Given the description of an element on the screen output the (x, y) to click on. 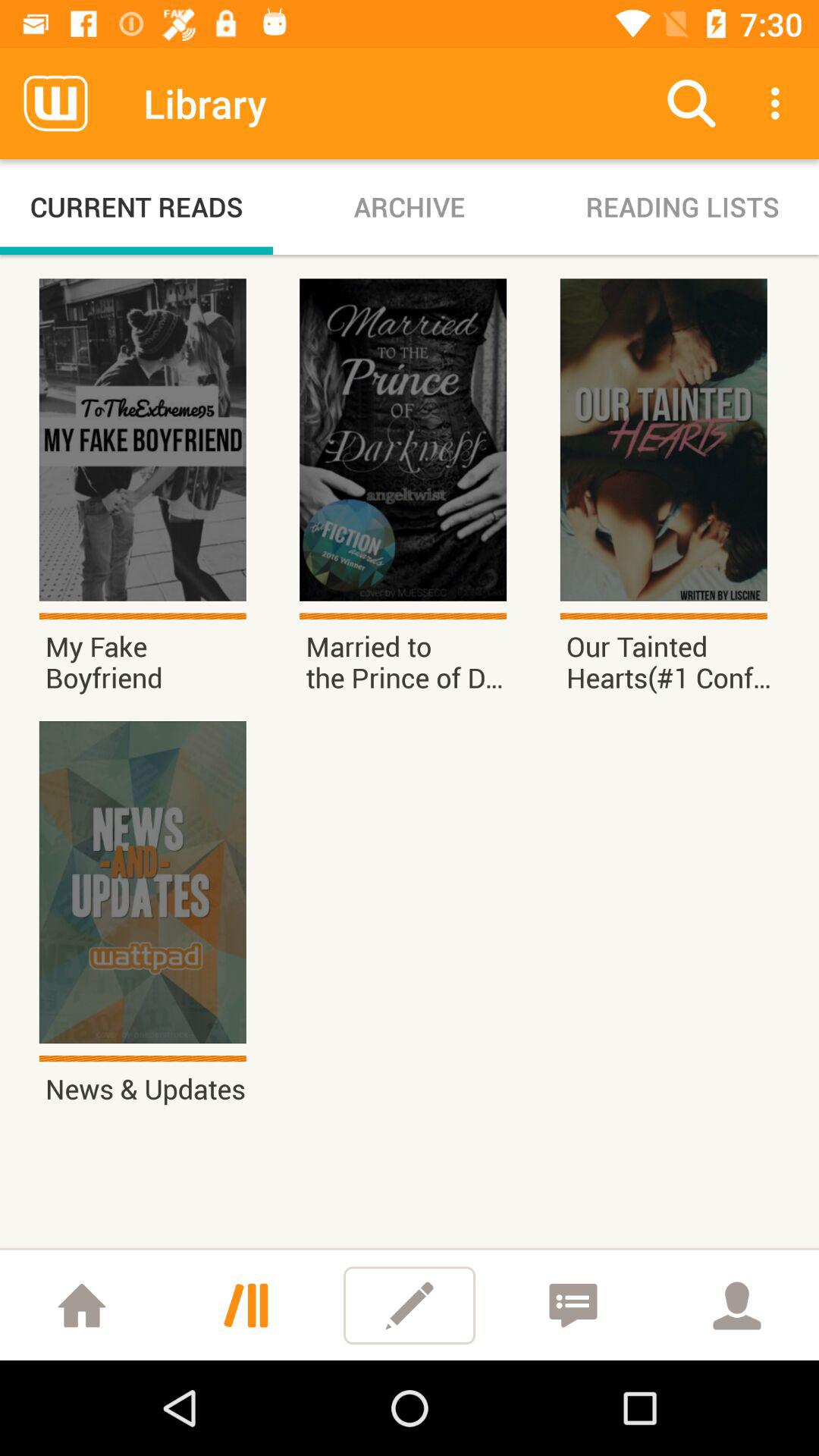
press the icon next to archive (691, 103)
